Given the description of an element on the screen output the (x, y) to click on. 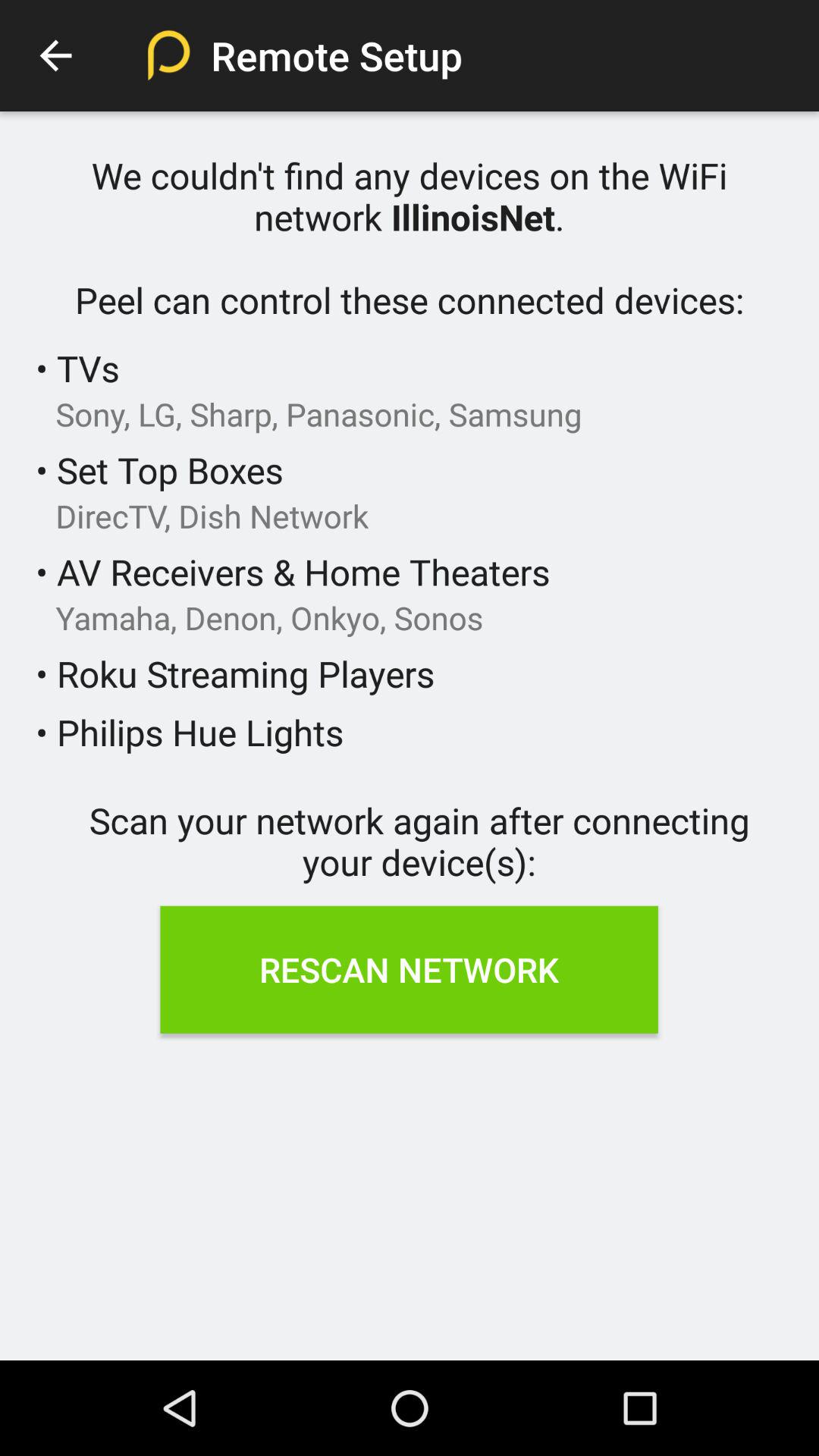
scroll until rescan network icon (409, 969)
